Given the description of an element on the screen output the (x, y) to click on. 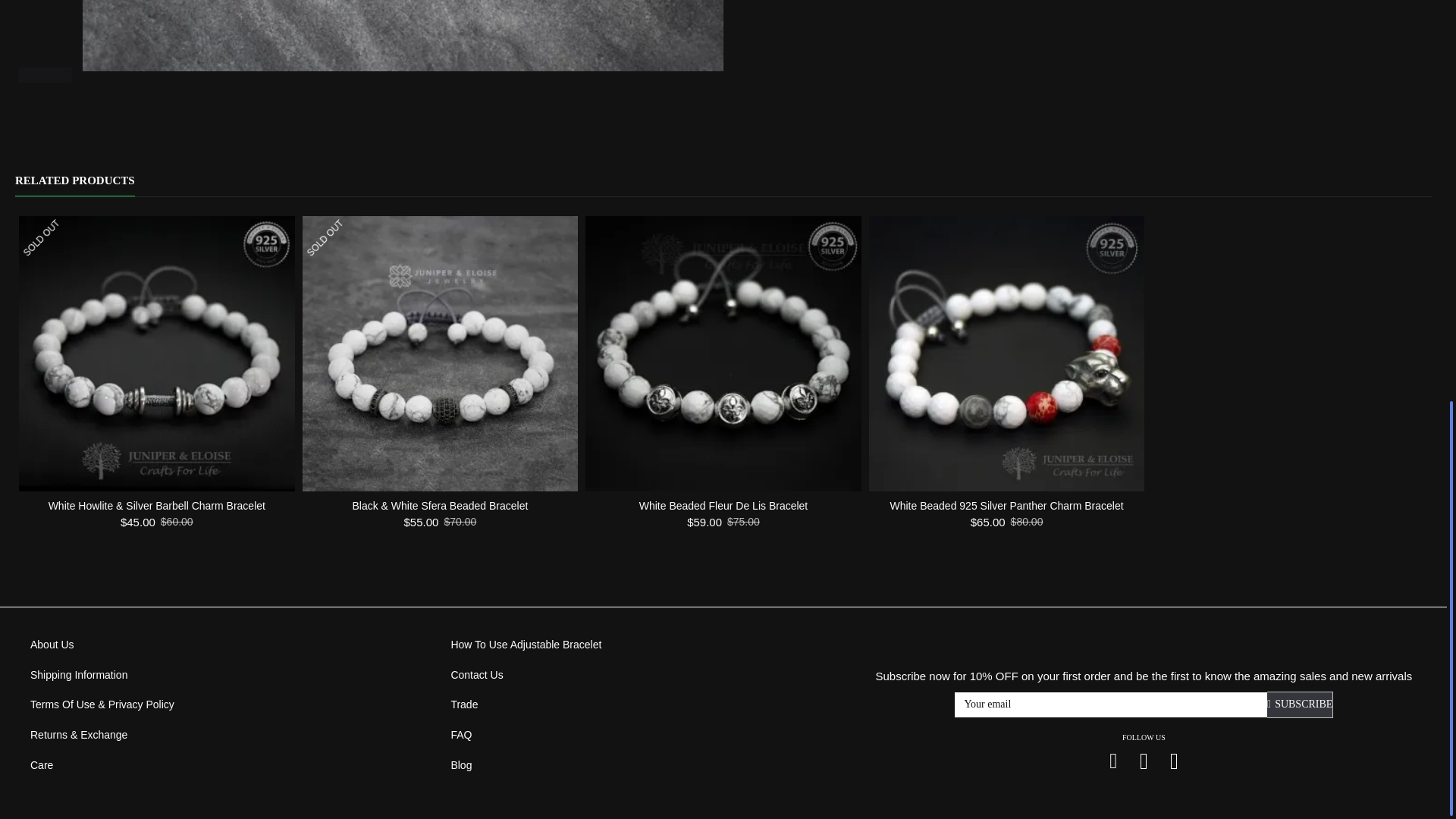
White Beaded 925 Silver Panther Charm Bracelet (1006, 354)
Matte Onyx Beaded 925 Silver Plane Bracelet (402, 35)
White Beaded Fleur De Lis Bracelet (723, 354)
